Given the description of an element on the screen output the (x, y) to click on. 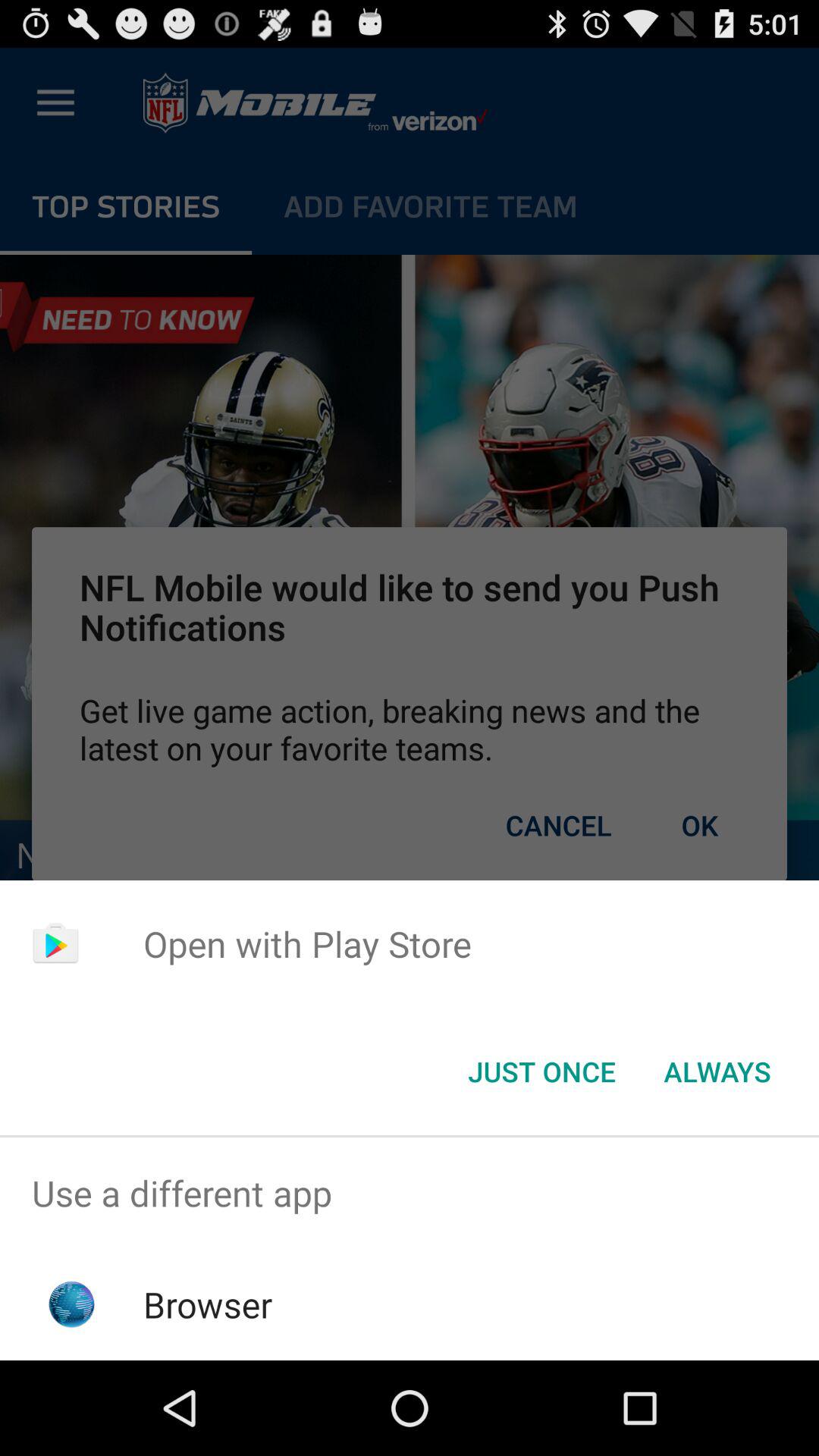
choose item below the use a different (207, 1304)
